Given the description of an element on the screen output the (x, y) to click on. 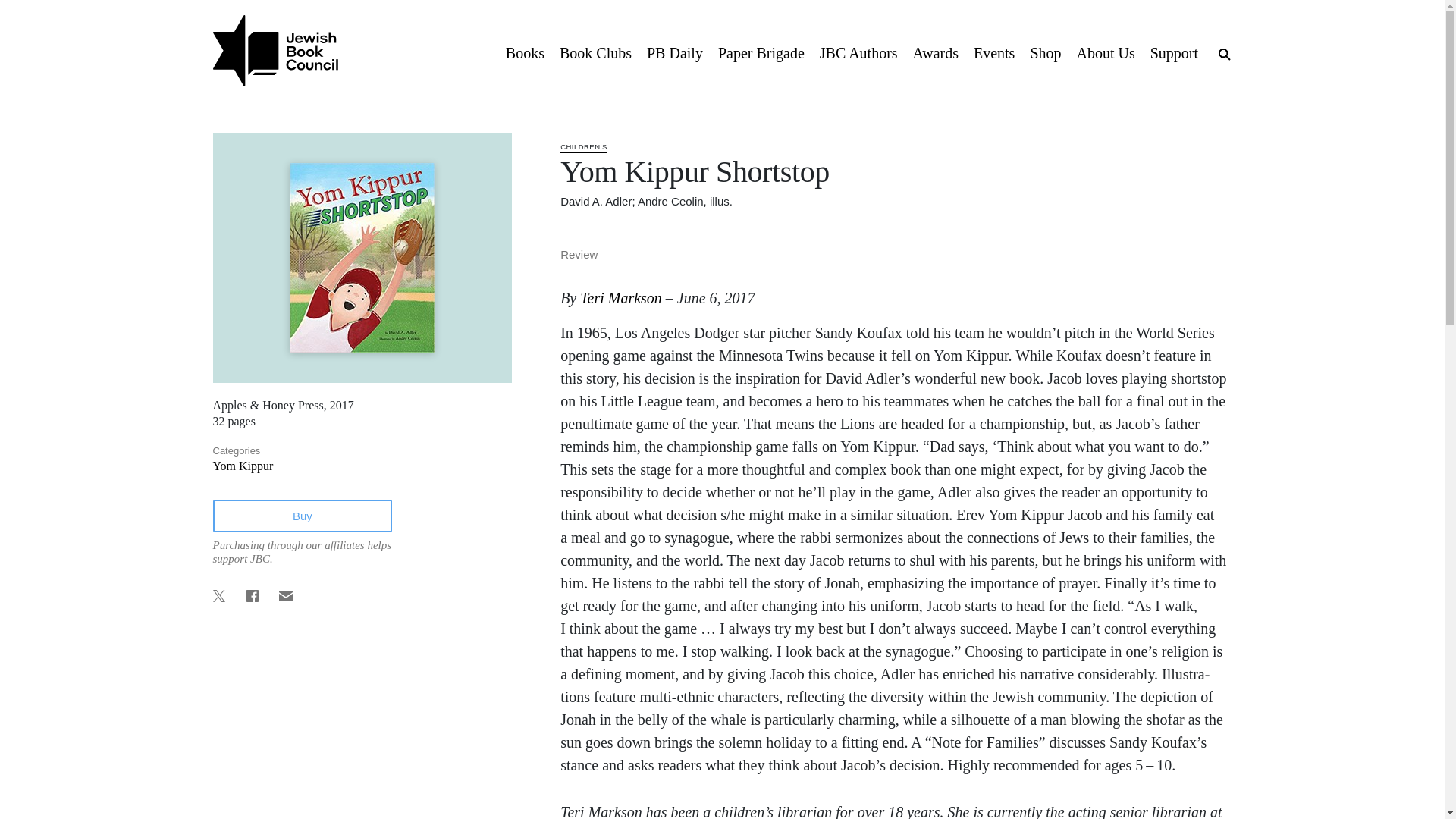
Awards (935, 52)
Books (524, 52)
JBC Authors (858, 52)
Book Clubs (595, 52)
Paper Brigade (761, 52)
PB Daily (674, 52)
